Given the description of an element on the screen output the (x, y) to click on. 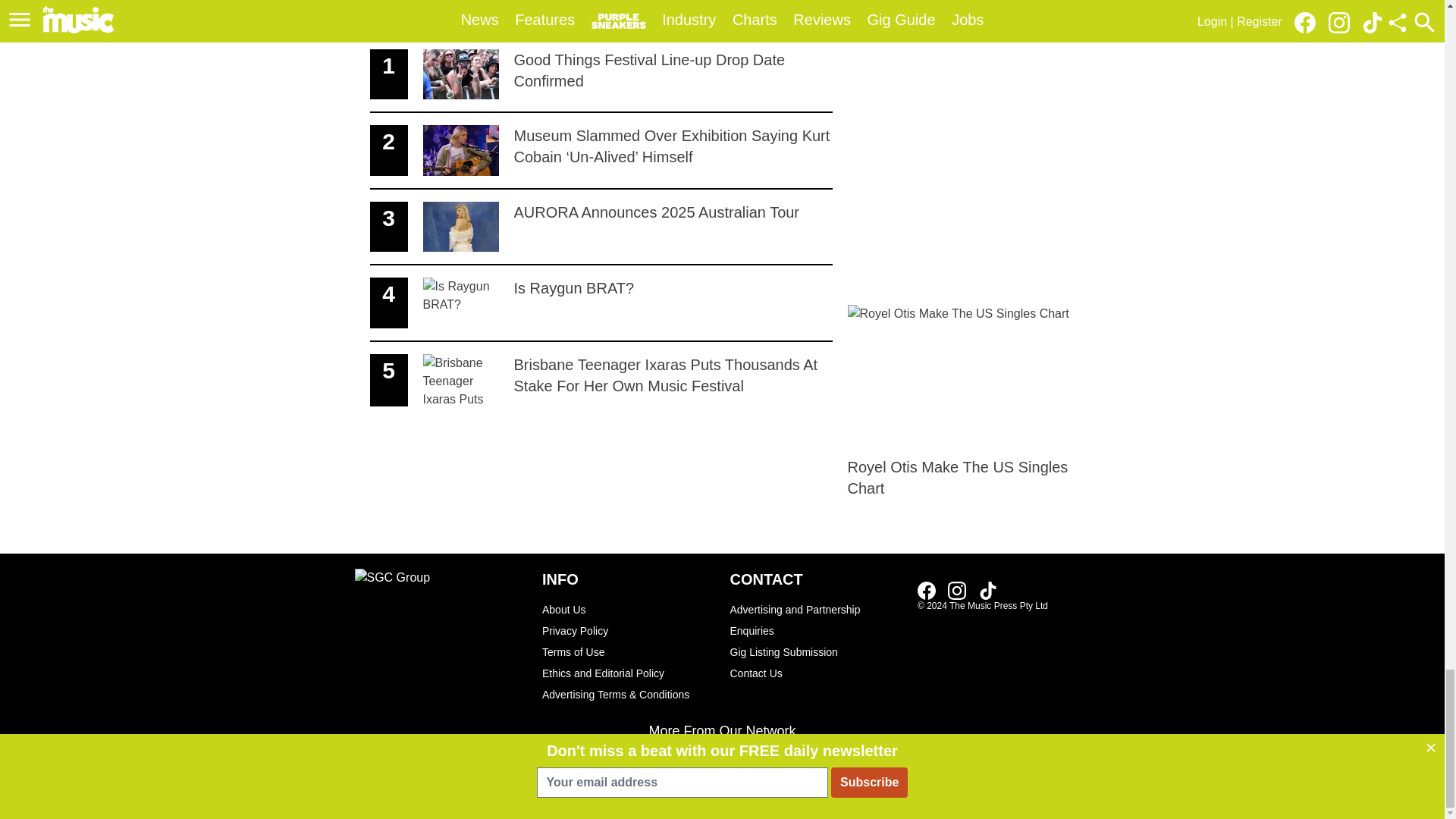
Link to our TikTok (600, 227)
Link to our Instagram (600, 74)
Link to our Facebook (987, 590)
